Given the description of an element on the screen output the (x, y) to click on. 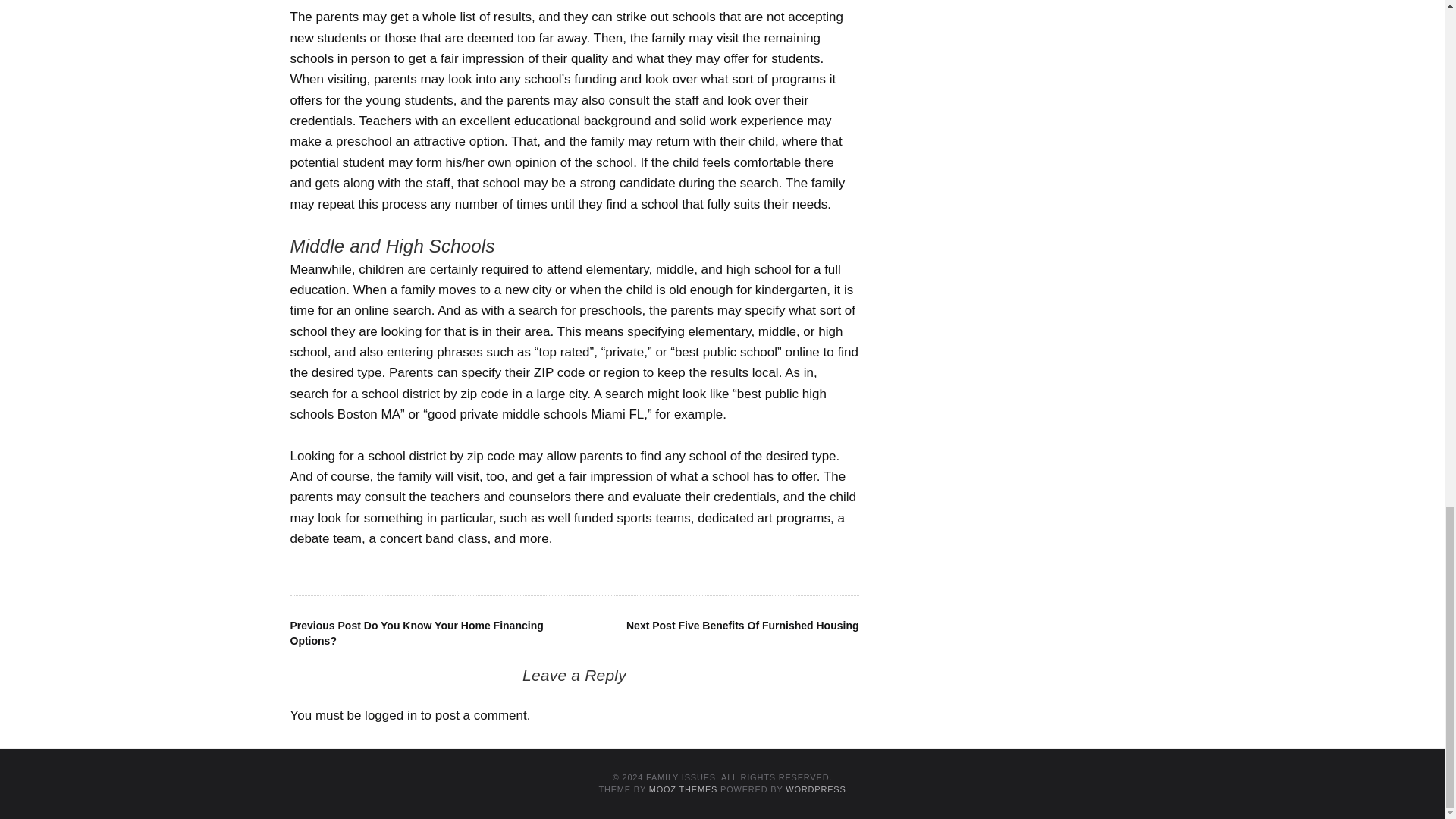
MOOZ THEMES (683, 788)
Next Post Five Benefits Of Furnished Housing (742, 625)
logged in (390, 715)
Previous Post Do You Know Your Home Financing Options? (416, 633)
school district by zip code (434, 393)
WORDPRESS (815, 788)
More stuff (434, 393)
